Given the description of an element on the screen output the (x, y) to click on. 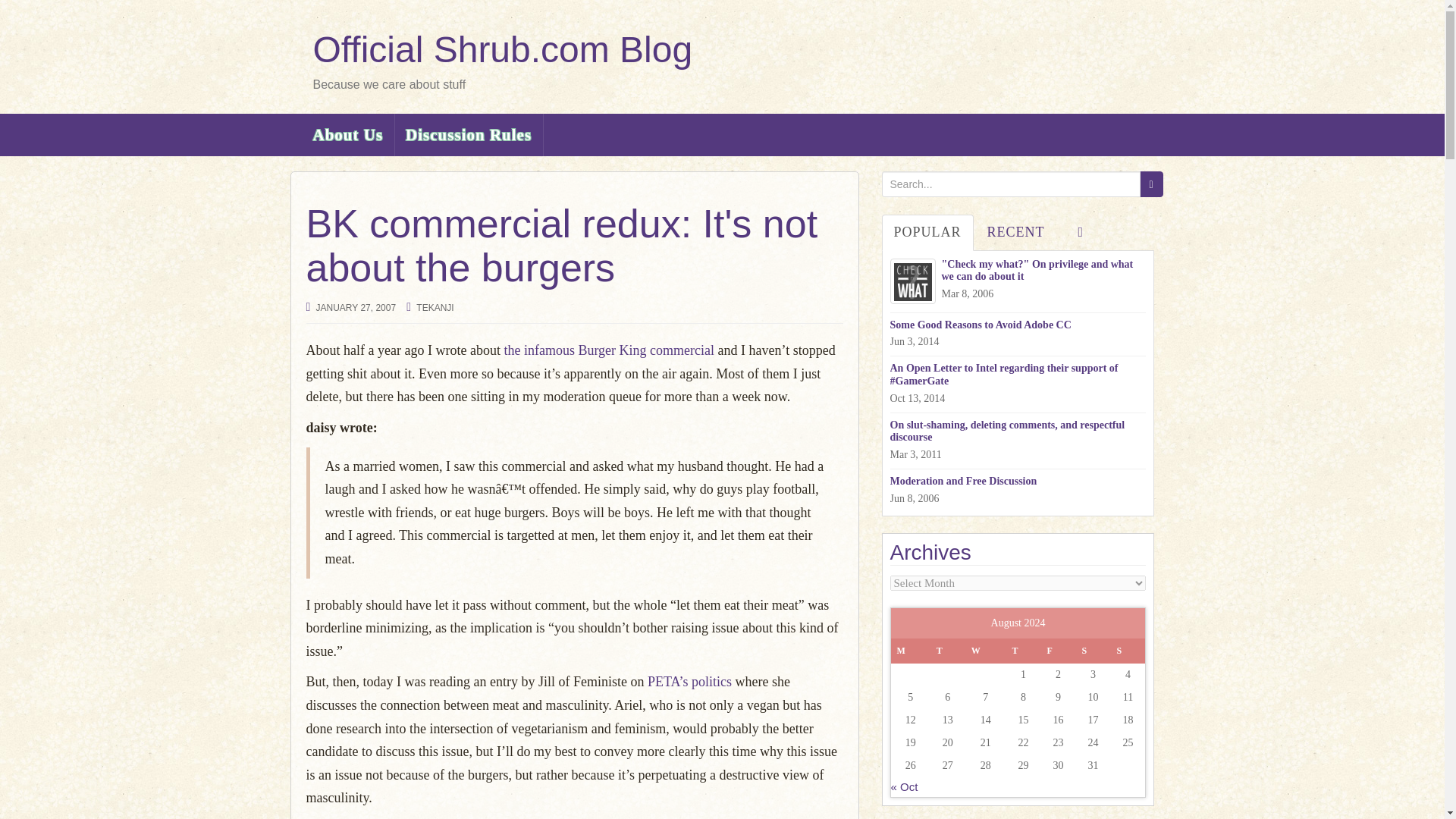
About Us (347, 134)
TEKANJI (434, 307)
"Check my what?" On privilege and what we can do about it (1018, 271)
Official Shrub.com Blog (503, 49)
POPULAR (926, 232)
About Us (347, 134)
RECENT (1016, 232)
Discussion Rules (468, 134)
"Check my what?" On privilege and what we can do about it (1018, 271)
Discussion Rules (468, 134)
